Given the description of an element on the screen output the (x, y) to click on. 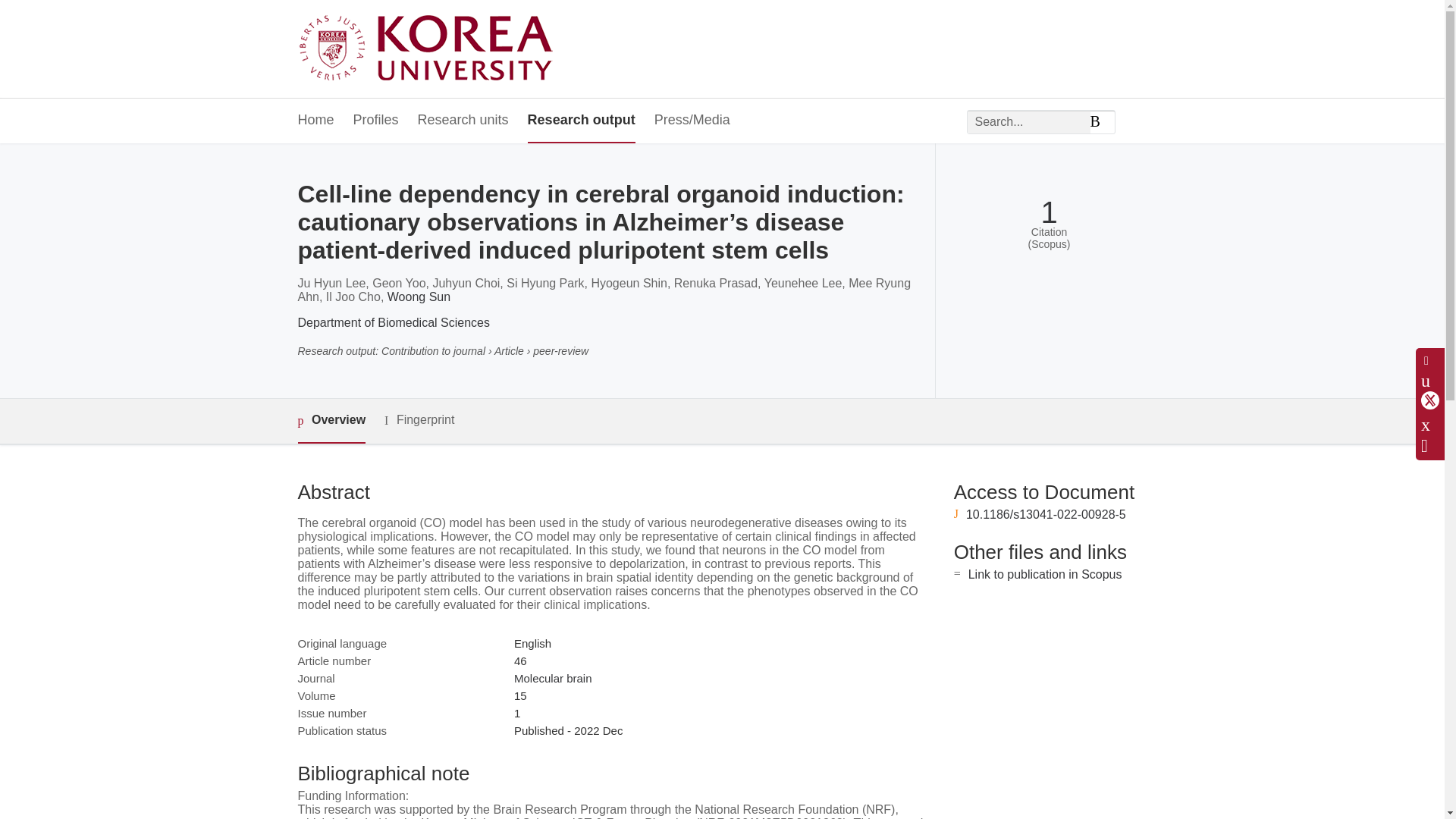
Korea University Home (429, 49)
Molecular brain (552, 677)
Fingerprint (419, 420)
Research units (462, 120)
Research output (580, 120)
Overview (331, 420)
Department of Biomedical Sciences (393, 322)
Profiles (375, 120)
Woong Sun (418, 296)
